Given the description of an element on the screen output the (x, y) to click on. 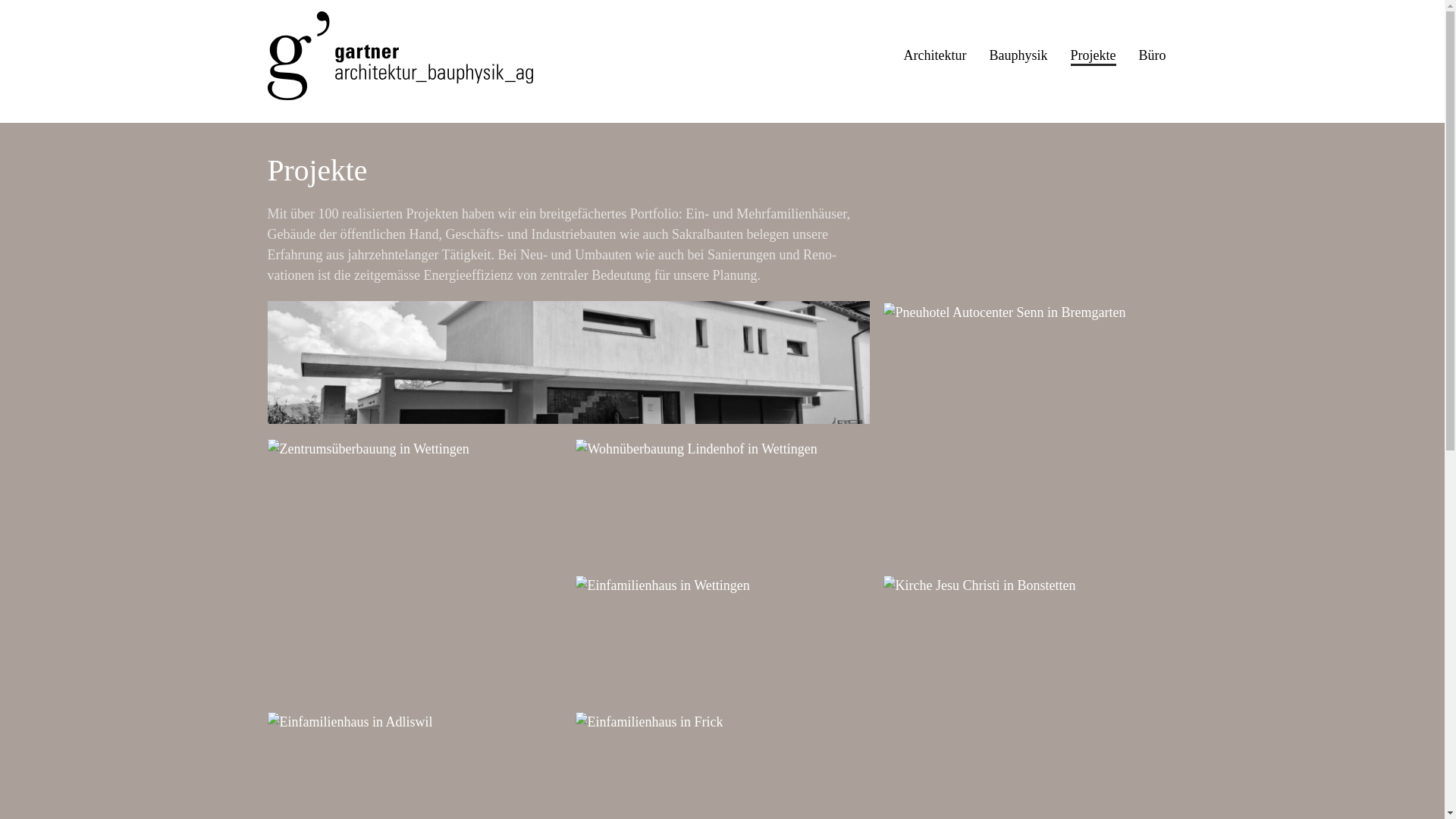
Projekte Element type: text (1092, 55)
Pneuhotel Autocenter Senn in Bremgarten Element type: hover (1003, 312)
Bauphysik Element type: text (1017, 55)
Einfamilienhaus in Frick Element type: hover (648, 722)
Einfamilienhaus in Wettingen Element type: hover (661, 585)
Mehrfamilienhaus in Muri Element type: hover (567, 362)
Architektur Element type: text (935, 55)
Einfamilienhaus in Adliswil Element type: hover (349, 722)
Kirche Jesu Christi in Bonstetten Element type: hover (978, 585)
